Given the description of an element on the screen output the (x, y) to click on. 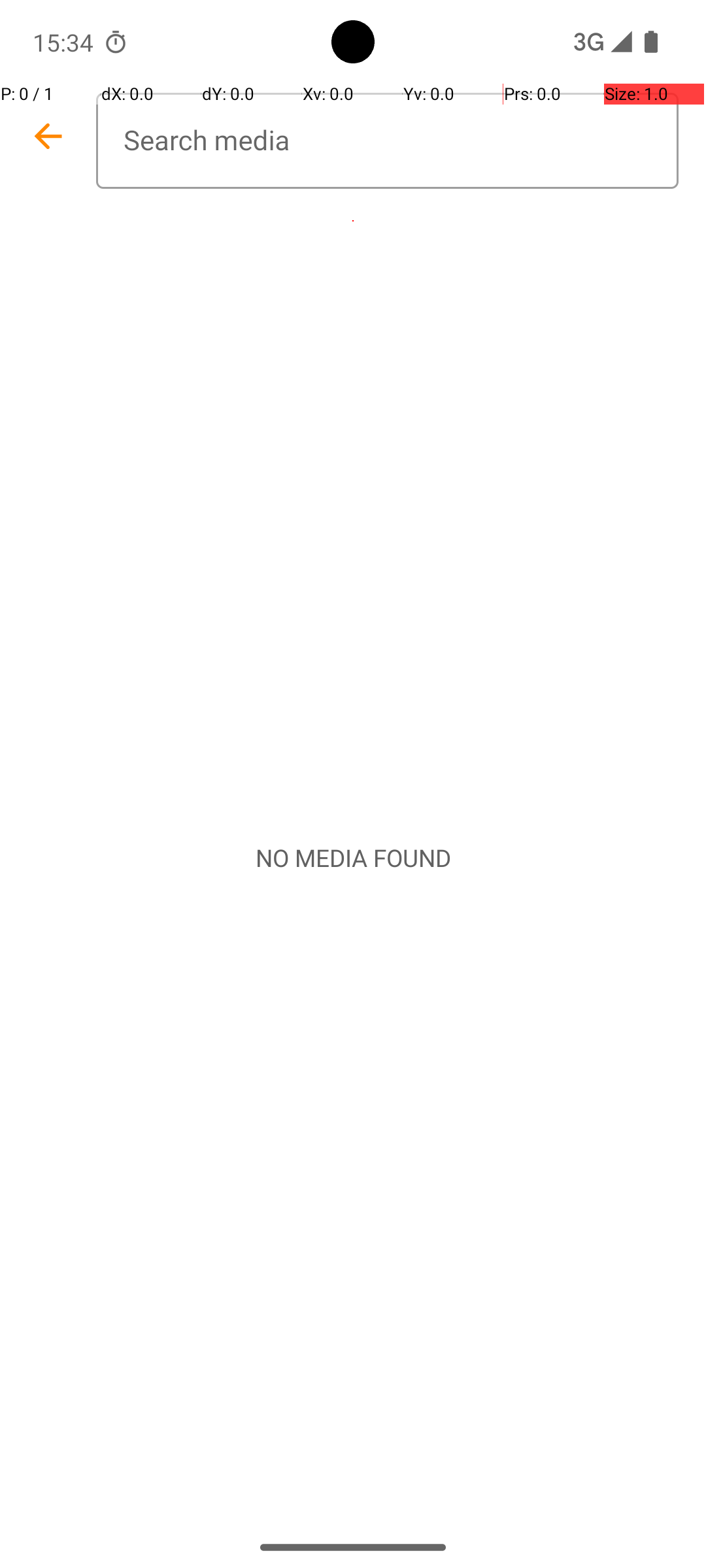
Search media Element type: android.widget.EditText (387, 140)
NO MEDIA FOUND Element type: android.widget.TextView (353, 857)
